Given the description of an element on the screen output the (x, y) to click on. 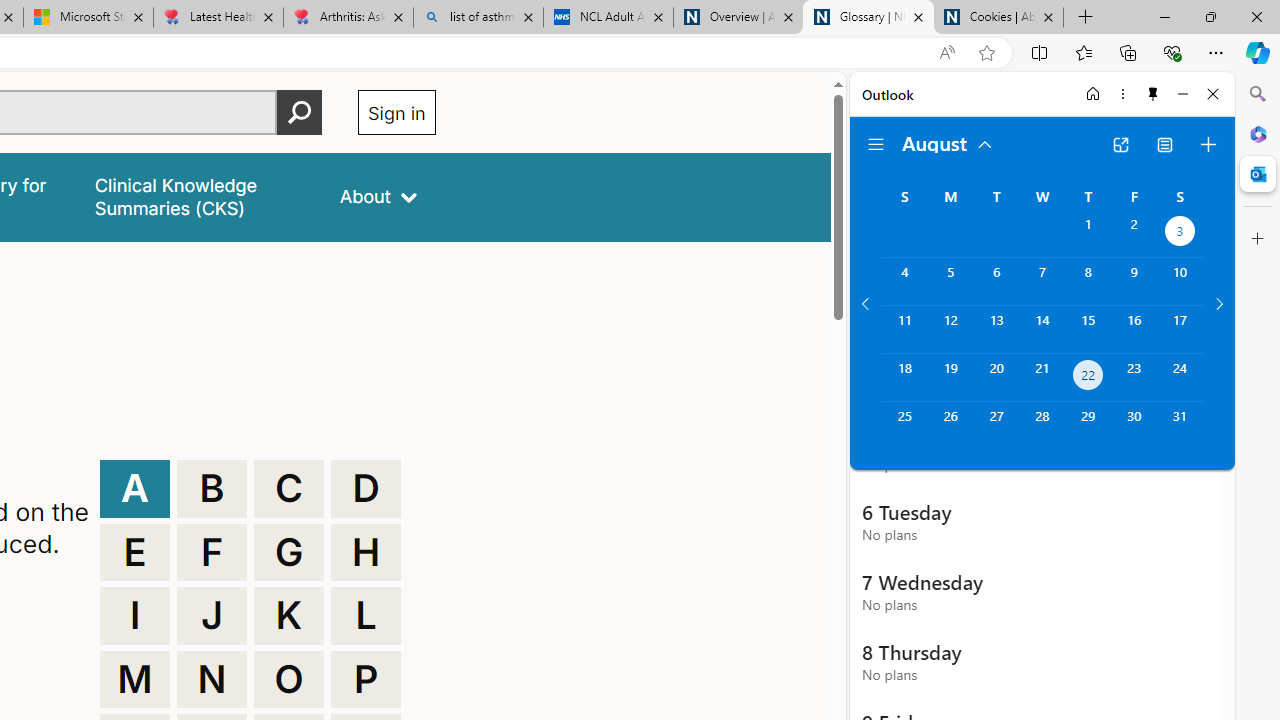
Thursday, August 1, 2024.  (1088, 233)
Tuesday, August 6, 2024.  (996, 281)
Tuesday, August 27, 2024.  (996, 425)
Wednesday, August 28, 2024.  (1042, 425)
N (212, 679)
O (289, 679)
Tuesday, August 13, 2024.  (996, 329)
M (134, 679)
View Switcher. Current view is Agenda view (1165, 144)
Friday, August 30, 2024.  (1134, 425)
